Given the description of an element on the screen output the (x, y) to click on. 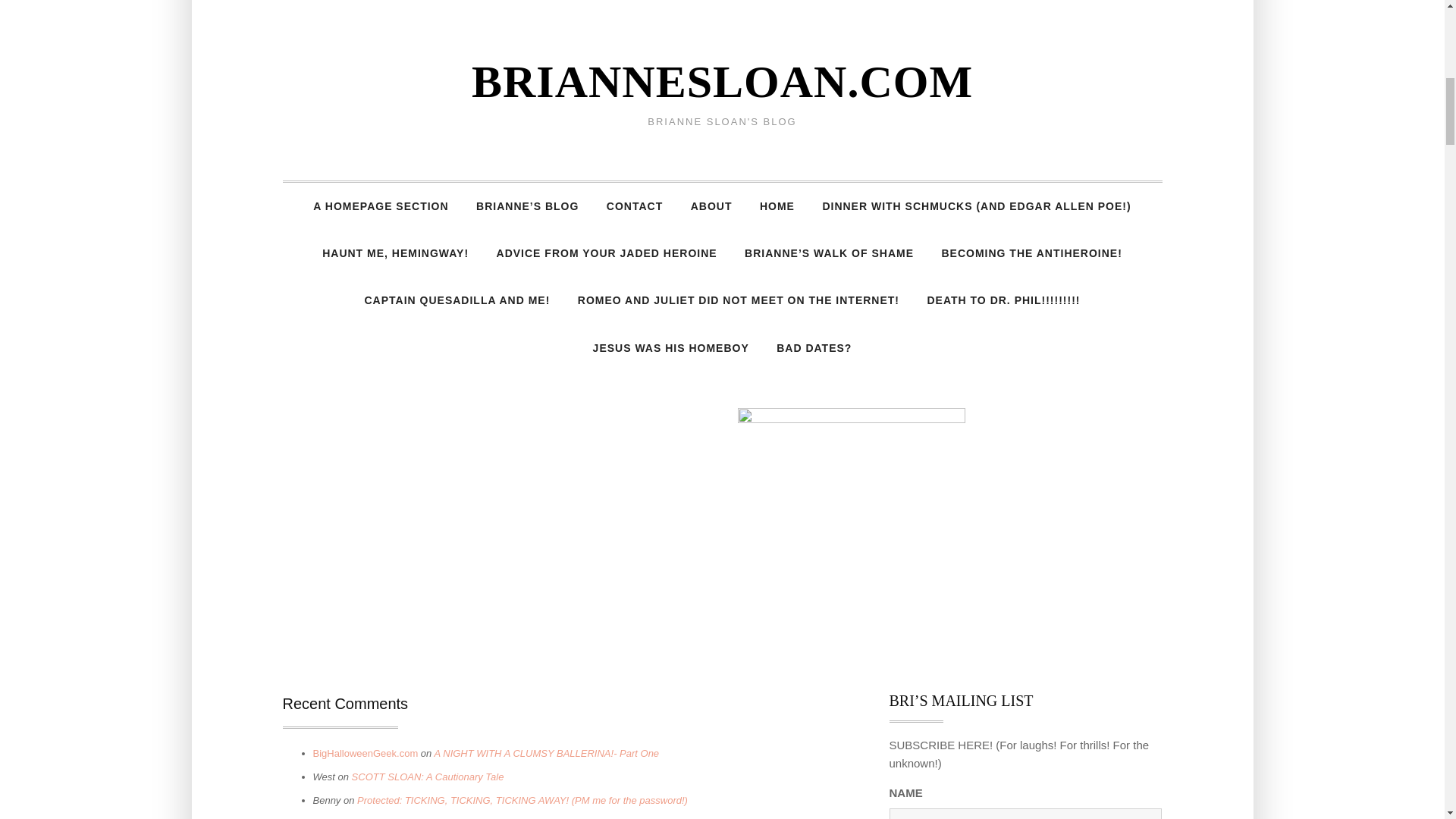
CAPTAIN QUESADILLA AND ME! (457, 299)
BAD DATES? (813, 347)
CONTACT (634, 206)
JESUS WAS HIS HOMEBOY (670, 347)
ROMEO AND JULIET DID NOT MEET ON THE INTERNET! (738, 299)
ADVICE FROM YOUR JADED HEROINE (606, 253)
A NIGHT WITH A CLUMSY BALLERINA!- Part One (546, 753)
BRIANNESLOAN.COM (721, 81)
DEATH TO DR. PHIL!!!!!!!!! (1003, 299)
BigHalloweenGeek.com (365, 753)
BECOMING THE ANTIHEROINE! (1031, 253)
HOME (777, 206)
ABOUT (711, 206)
HAUNT ME, HEMINGWAY! (395, 253)
SCOTT SLOAN: A Cautionary Tale (427, 776)
